Given the description of an element on the screen output the (x, y) to click on. 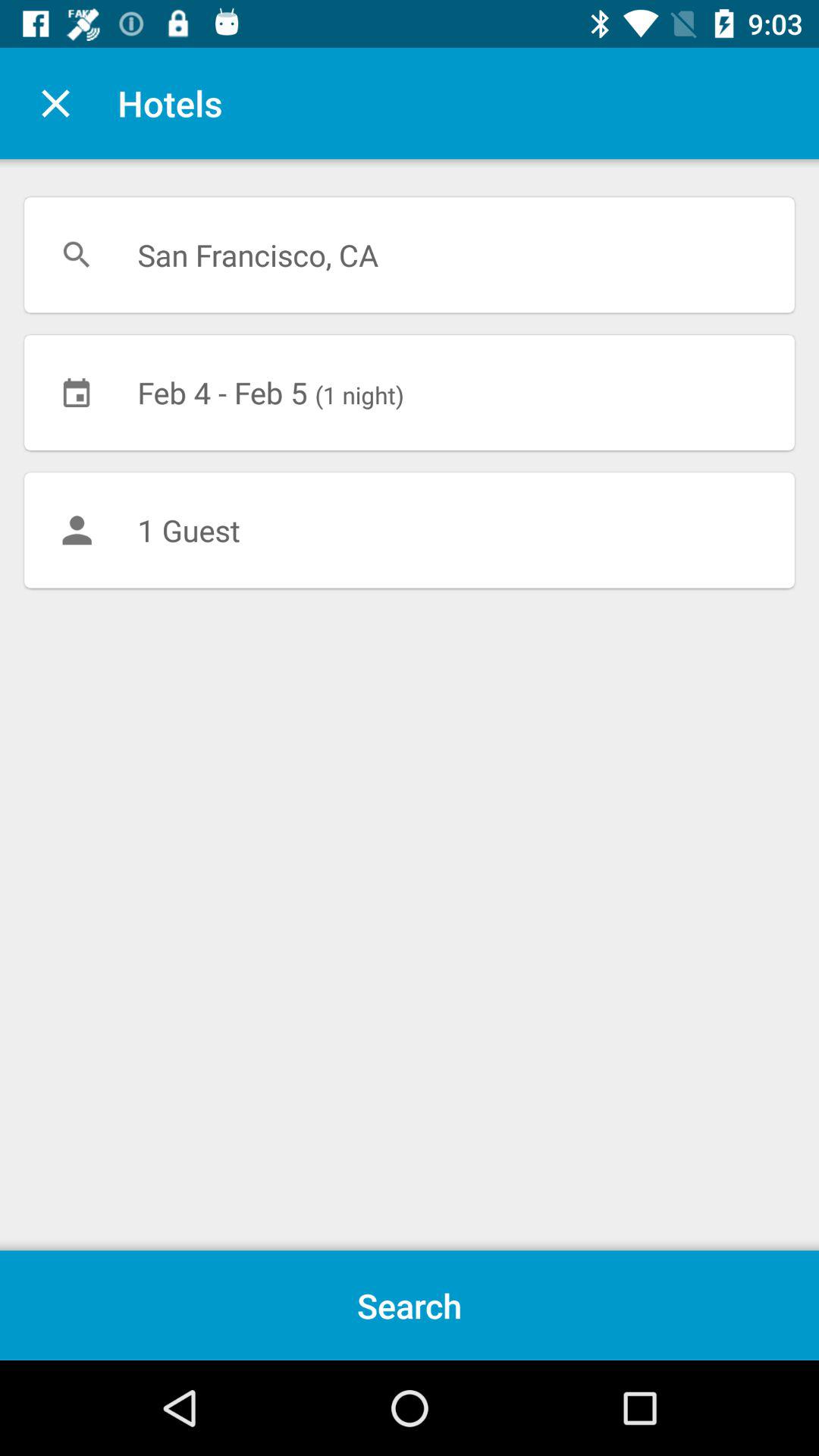
press icon next to the hotels icon (55, 103)
